Given the description of an element on the screen output the (x, y) to click on. 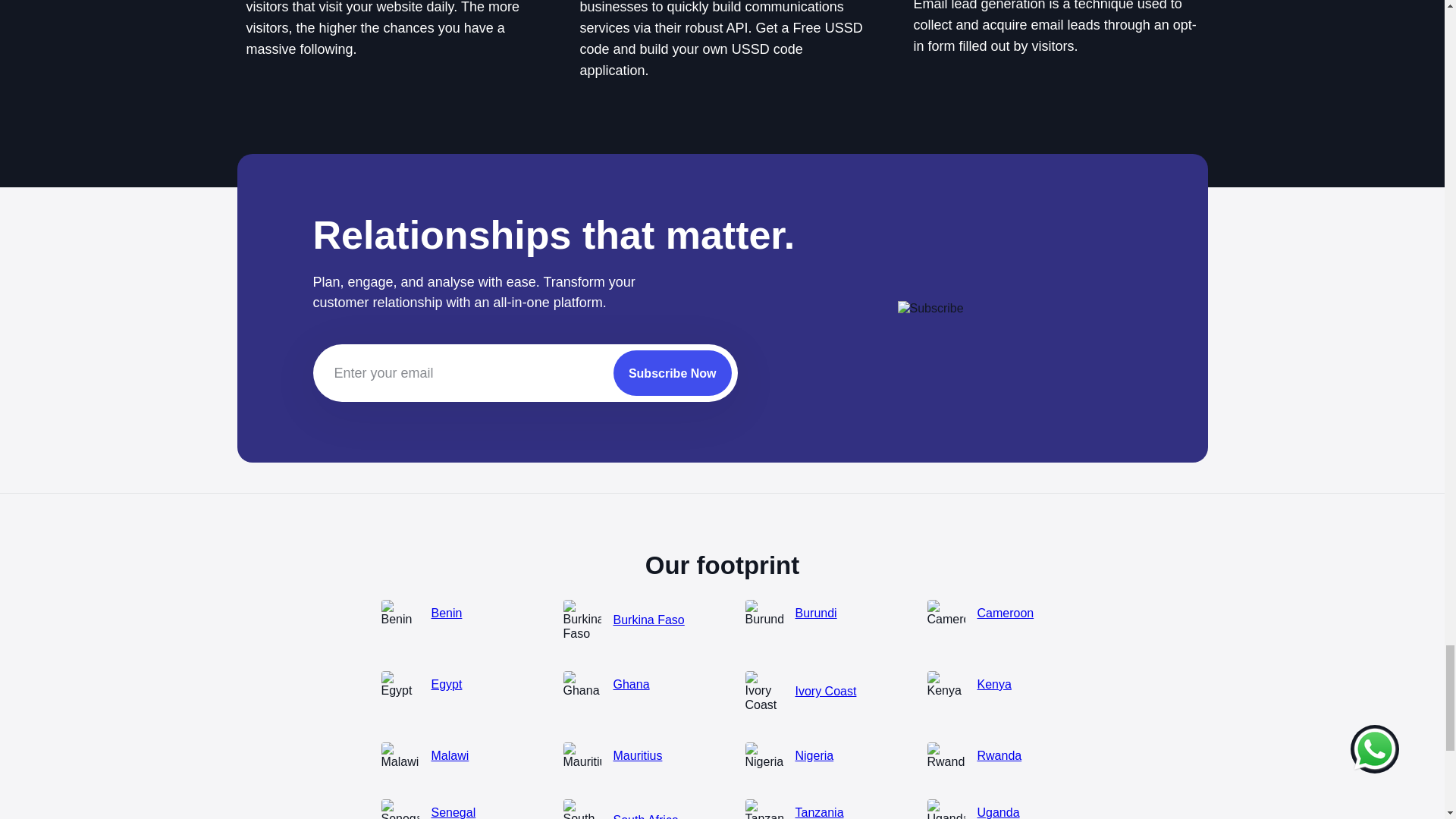
Ivory Coast (825, 690)
Burundi (814, 612)
Benin (445, 612)
Cameroon (1004, 612)
Kenya (993, 684)
Nigeria (813, 755)
Rwanda (999, 755)
Burkina Faso (648, 619)
Ghana (630, 684)
Malawi (449, 755)
